Given the description of an element on the screen output the (x, y) to click on. 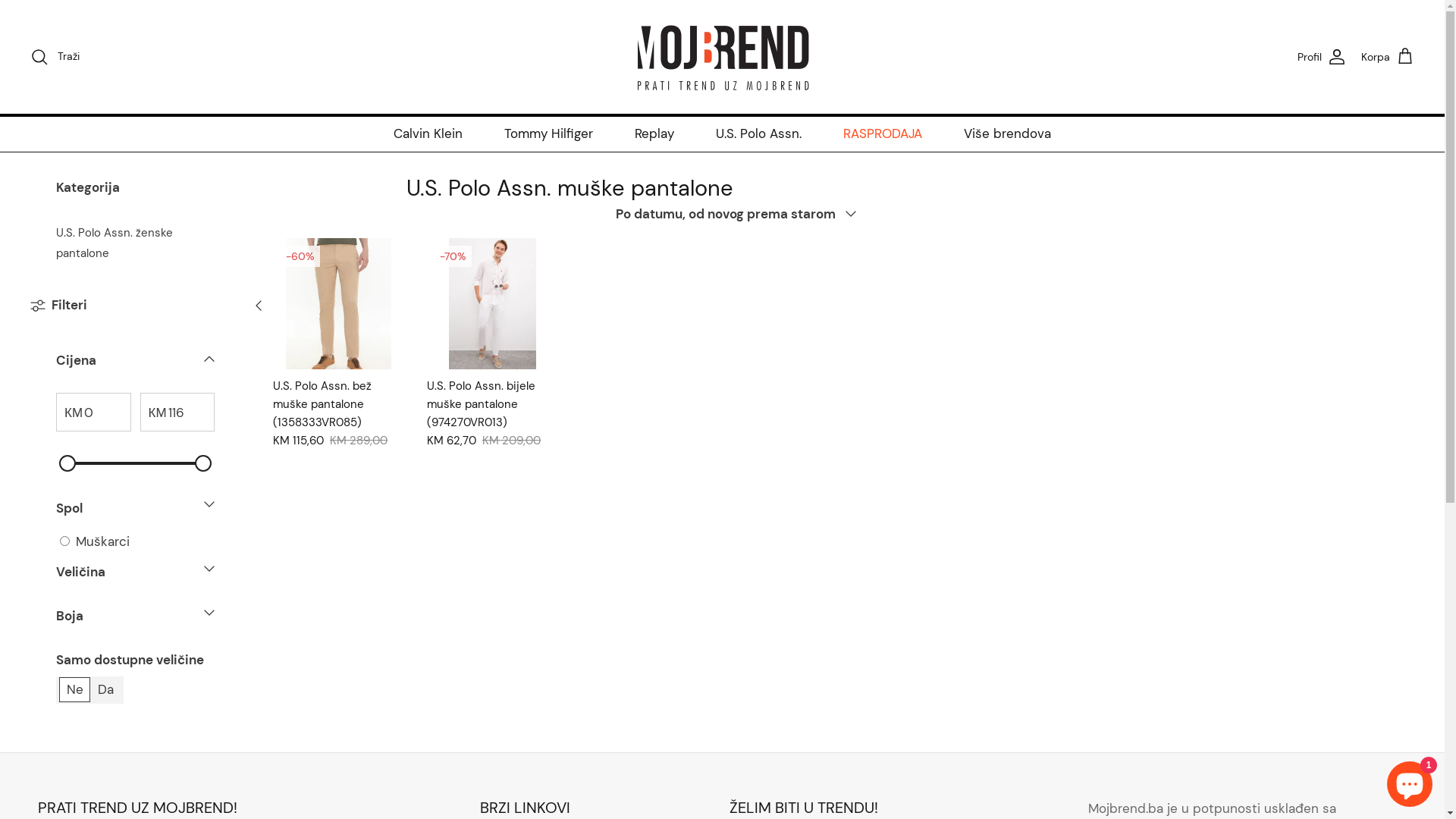
Kategorija Element type: text (158, 187)
Calvin Klein Element type: text (427, 133)
RASPRODAJA Element type: text (882, 133)
Po datumu, od novog prema starom Element type: text (740, 213)
MojBrend BIH Element type: hover (721, 56)
Profil Element type: text (1321, 56)
Tommy Hilfiger Element type: text (548, 133)
Korpa Element type: text (1387, 57)
U.S. Polo Assn. Element type: text (758, 133)
Replay Element type: text (654, 133)
